Given the description of an element on the screen output the (x, y) to click on. 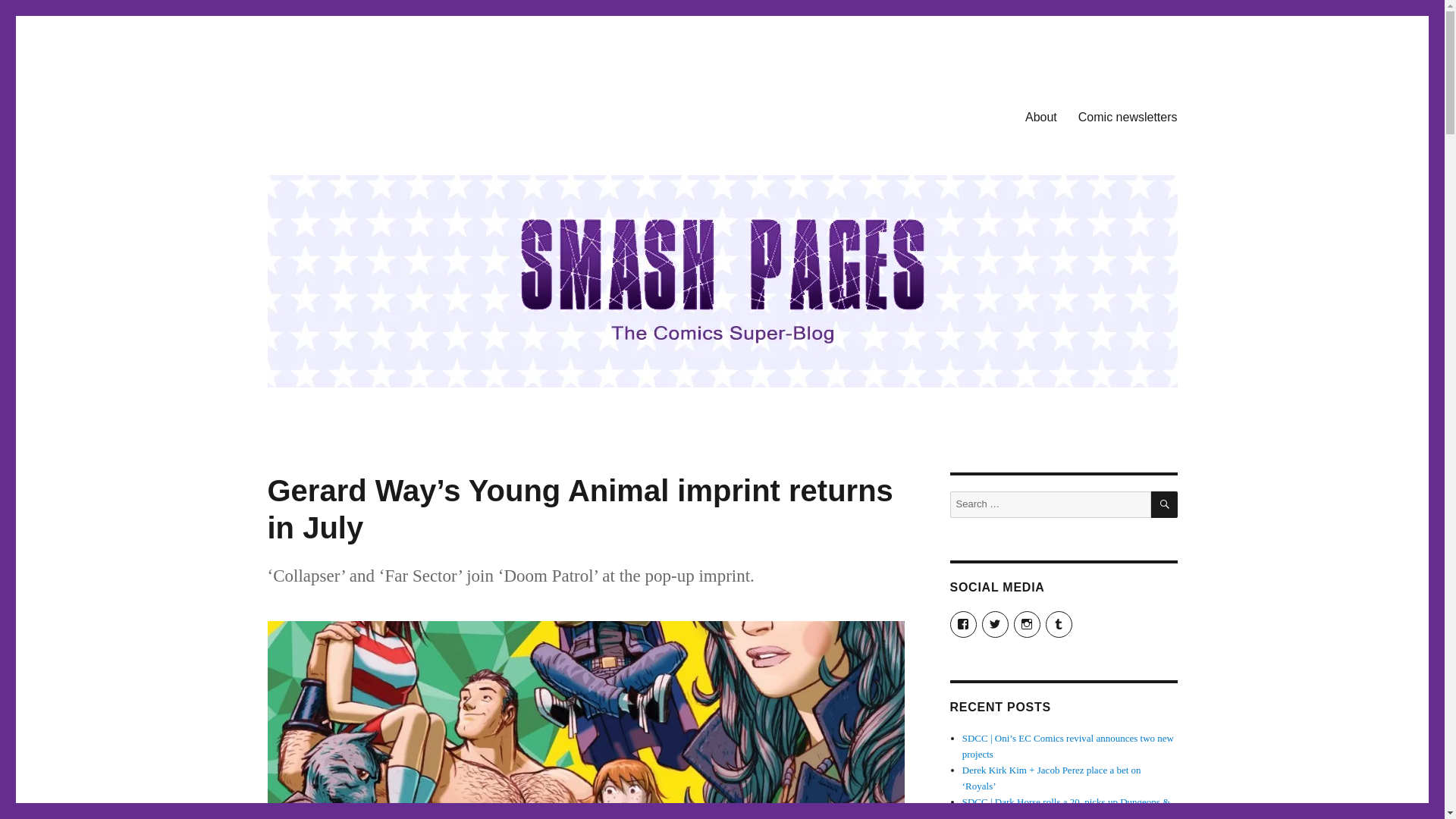
SEARCH (1164, 504)
Comic newsletters (1127, 116)
About (1040, 116)
SMASH PAGES (344, 114)
